Given the description of an element on the screen output the (x, y) to click on. 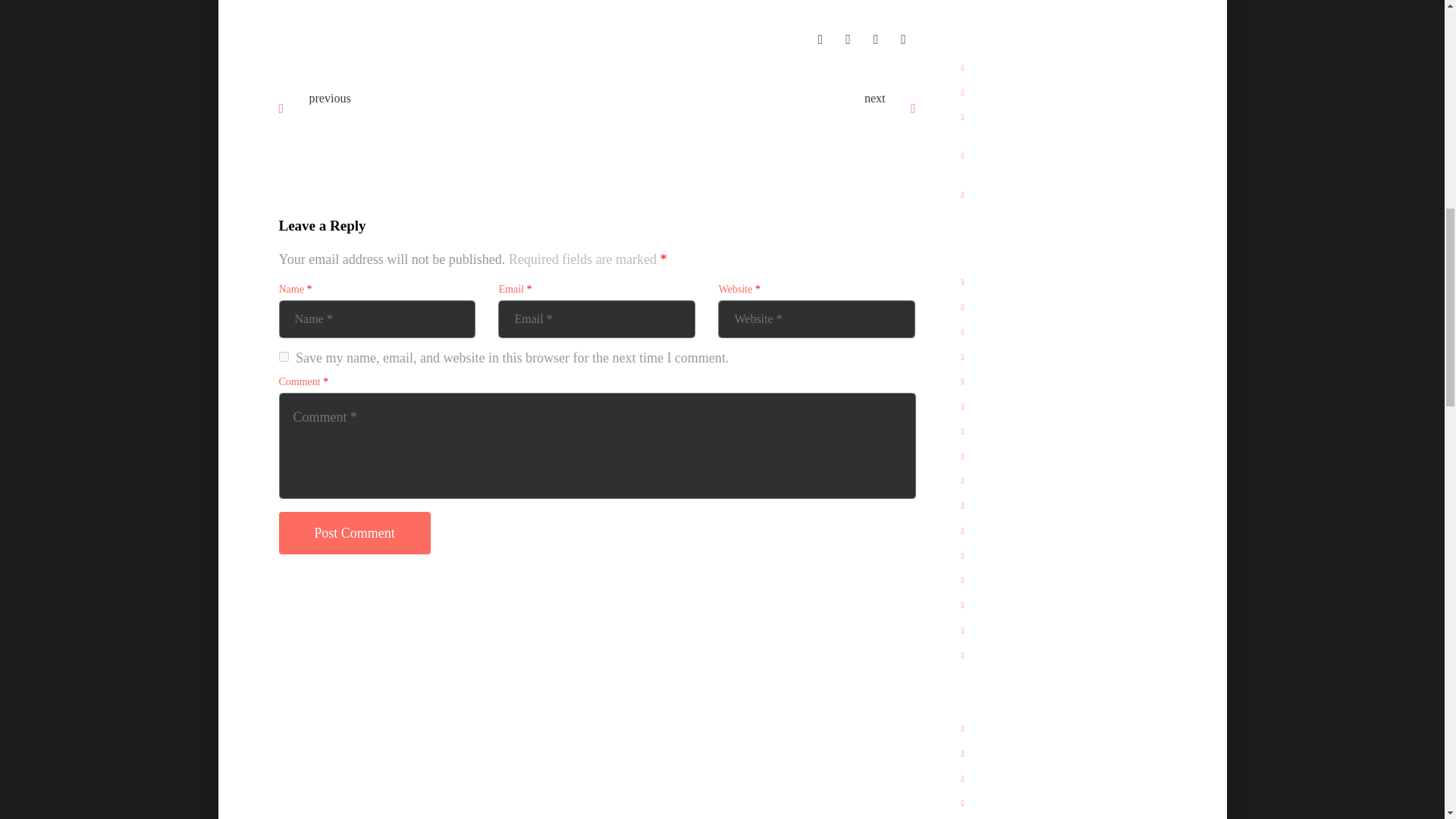
Reddit (903, 38)
Post Comment (354, 532)
Logowanie I Rejestracja W Kasynie Onlin (748, 109)
previous (329, 97)
Twitter (847, 38)
Vulkan Vegas Bonus Code 2023 Aktionscode 50 Freispiel (447, 114)
yes (283, 356)
next (874, 97)
LinkedIn (875, 38)
Post Comment (354, 532)
Facebook (820, 38)
